Given the description of an element on the screen output the (x, y) to click on. 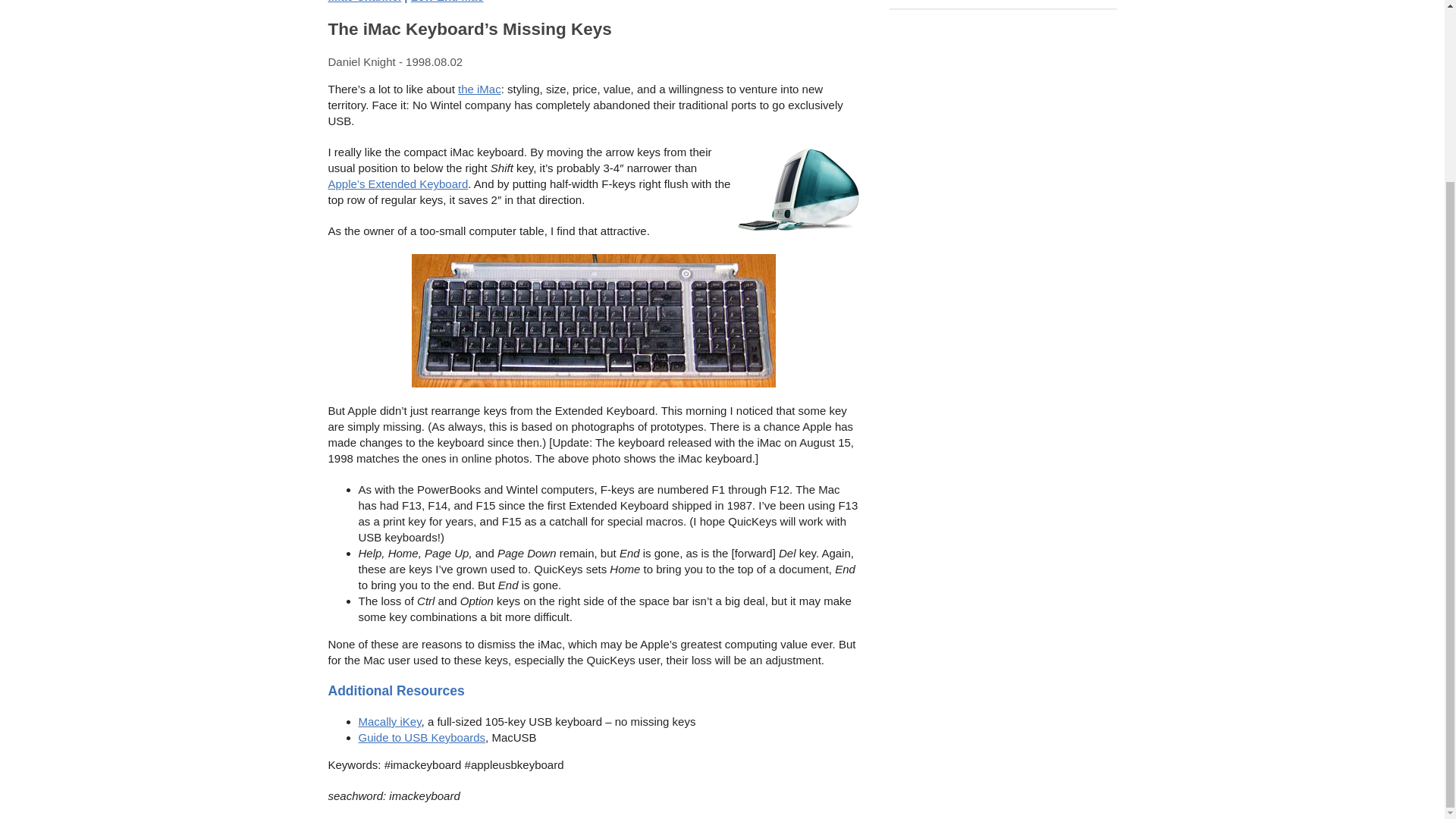
Low End Mac (446, 1)
Macally iKey USB Keyboard (389, 721)
The Legendary Apple Extended Keyboard (397, 183)
Guide to USB Keyboards (421, 737)
iMac Channel (364, 1)
the iMac (479, 88)
Macally iKey (389, 721)
